Given the description of an element on the screen output the (x, y) to click on. 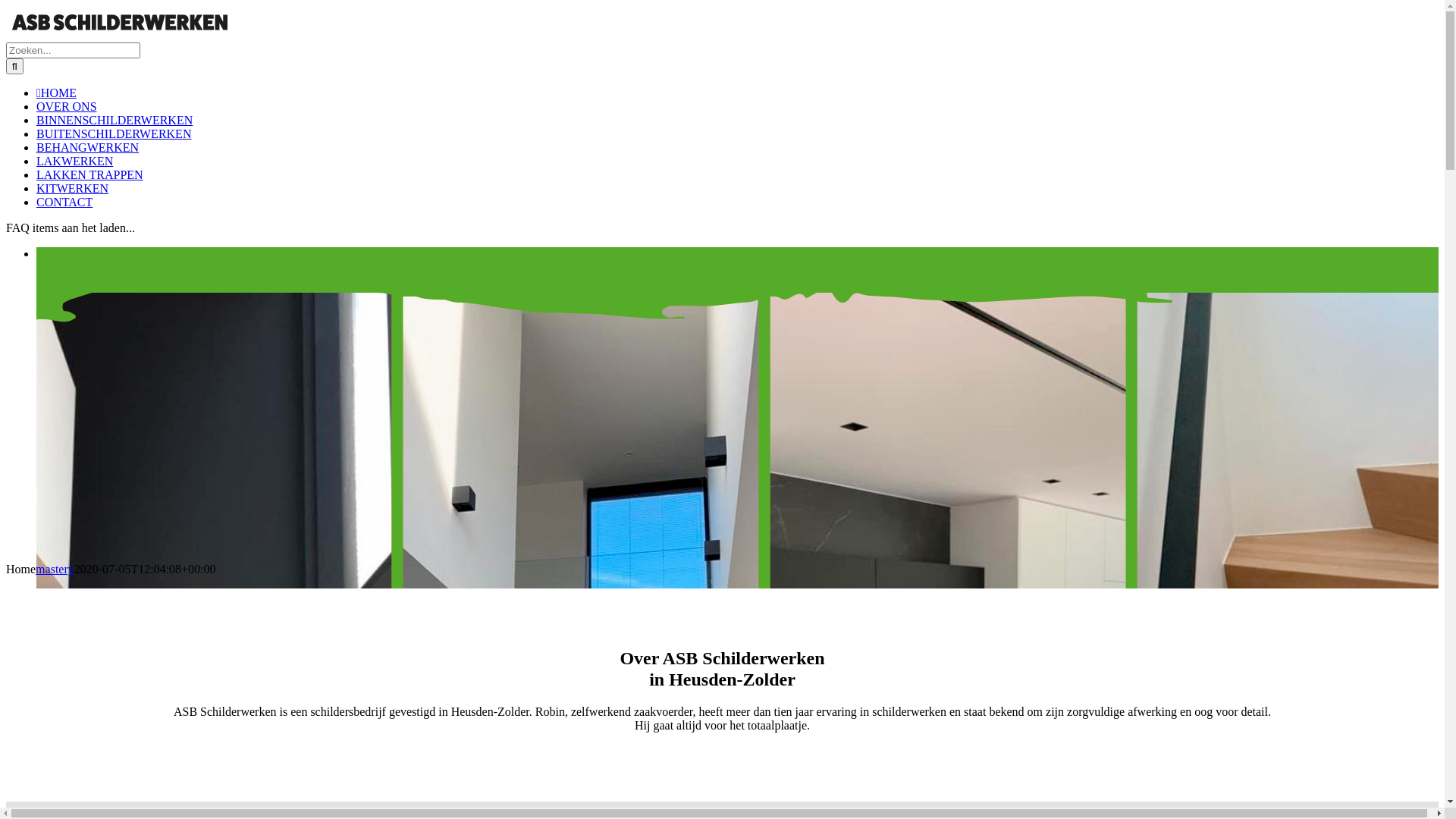
BINNENSCHILDERWERKEN Element type: text (114, 119)
BEHANGWERKEN Element type: text (87, 147)
CONTACT Element type: text (64, 201)
KITWERKEN Element type: text (72, 188)
Skip to content Element type: text (5, 5)
mastery Element type: text (54, 568)
HOME Element type: text (56, 92)
LAKKEN TRAPPEN Element type: text (89, 174)
OVER ONS Element type: text (66, 106)
BUITENSCHILDERWERKEN Element type: text (113, 133)
LAKWERKEN Element type: text (74, 160)
